Given the description of an element on the screen output the (x, y) to click on. 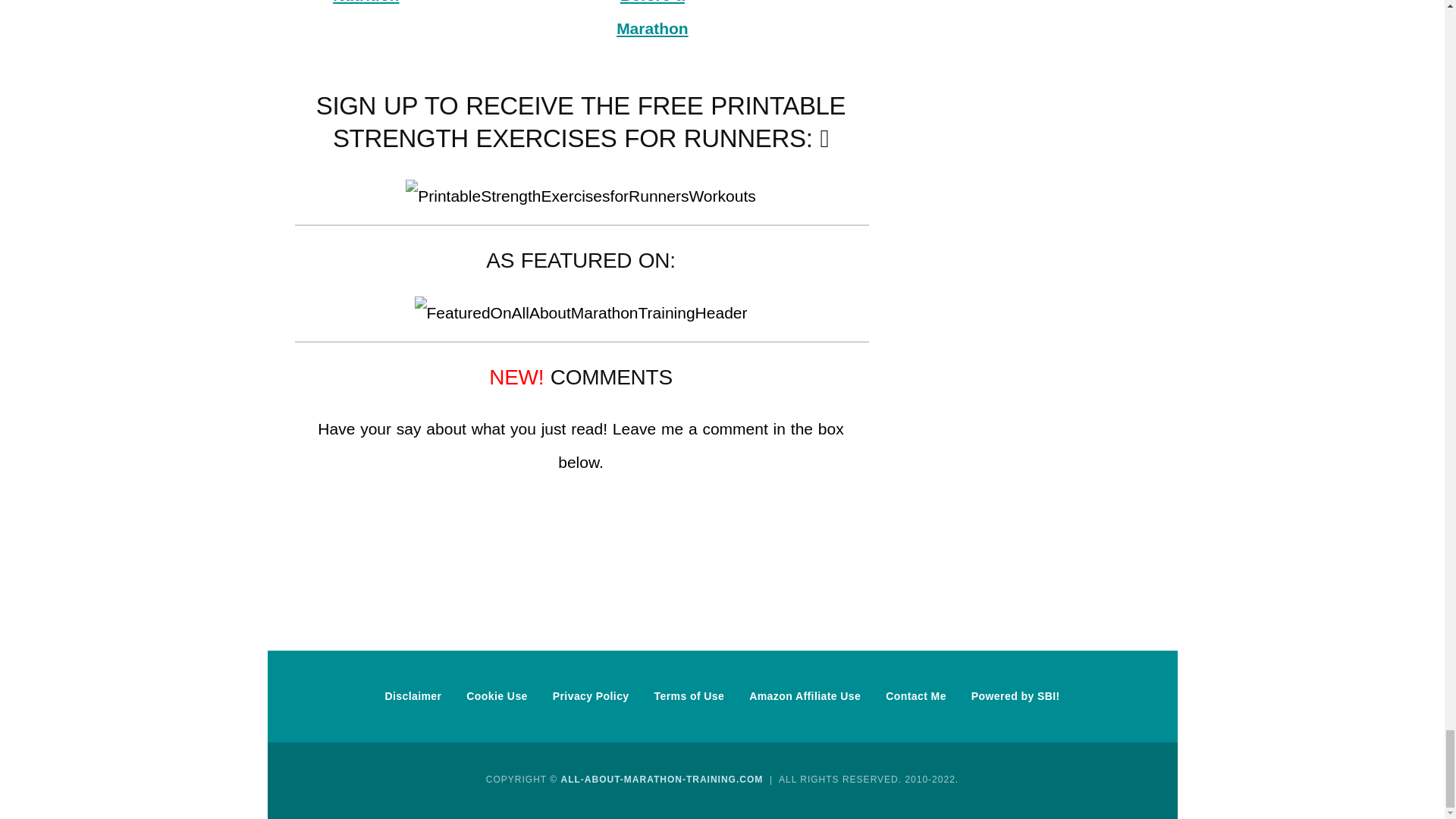
Marathon Nutrition (366, 2)
What to Eat Before a Marathon (652, 18)
